Given the description of an element on the screen output the (x, y) to click on. 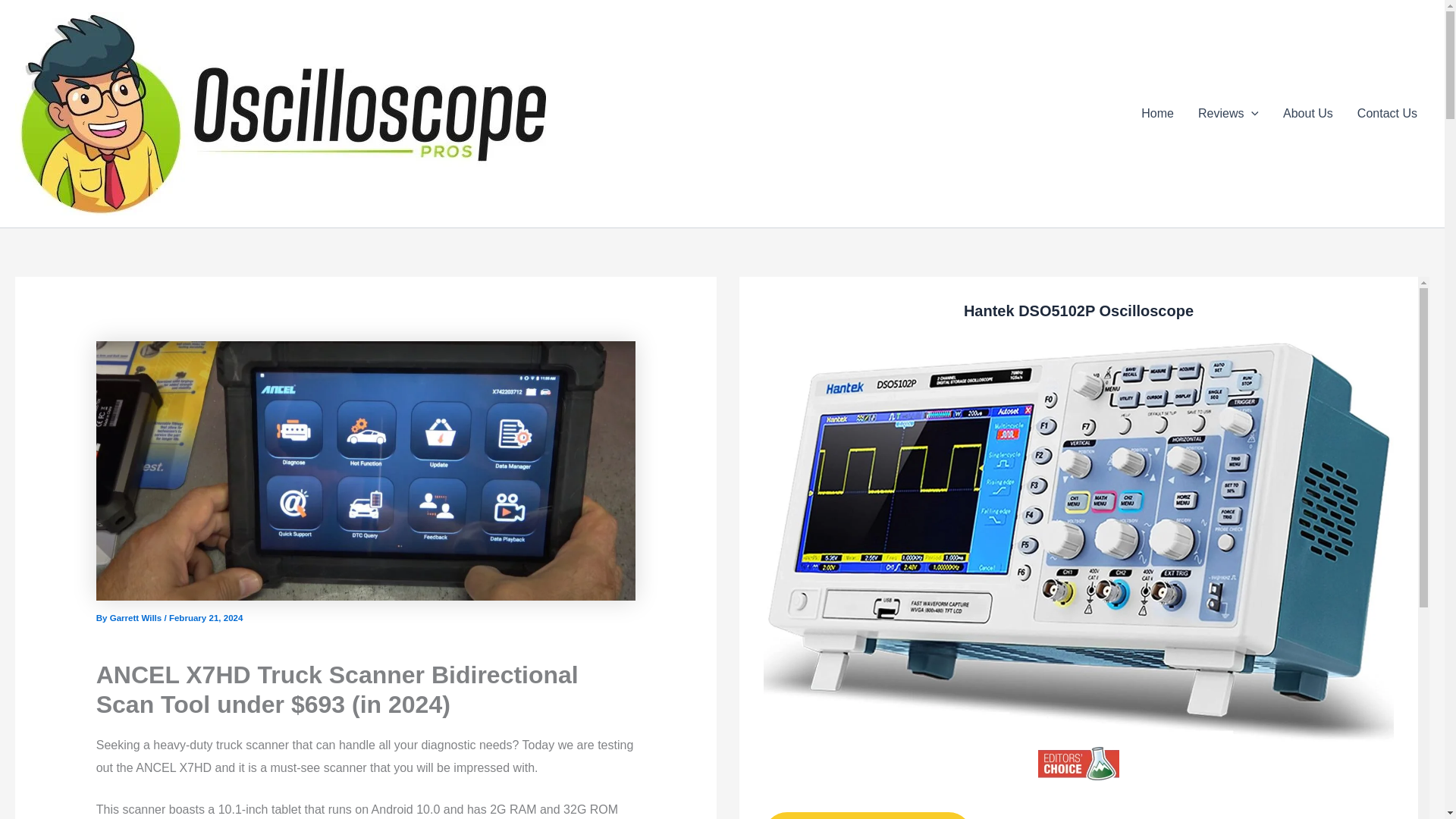
Home (1157, 113)
About Us (1308, 113)
Garrett Wills (137, 617)
View all posts by Garrett Wills (137, 617)
Reviews (1228, 113)
Contact Us (1387, 113)
